Given the description of an element on the screen output the (x, y) to click on. 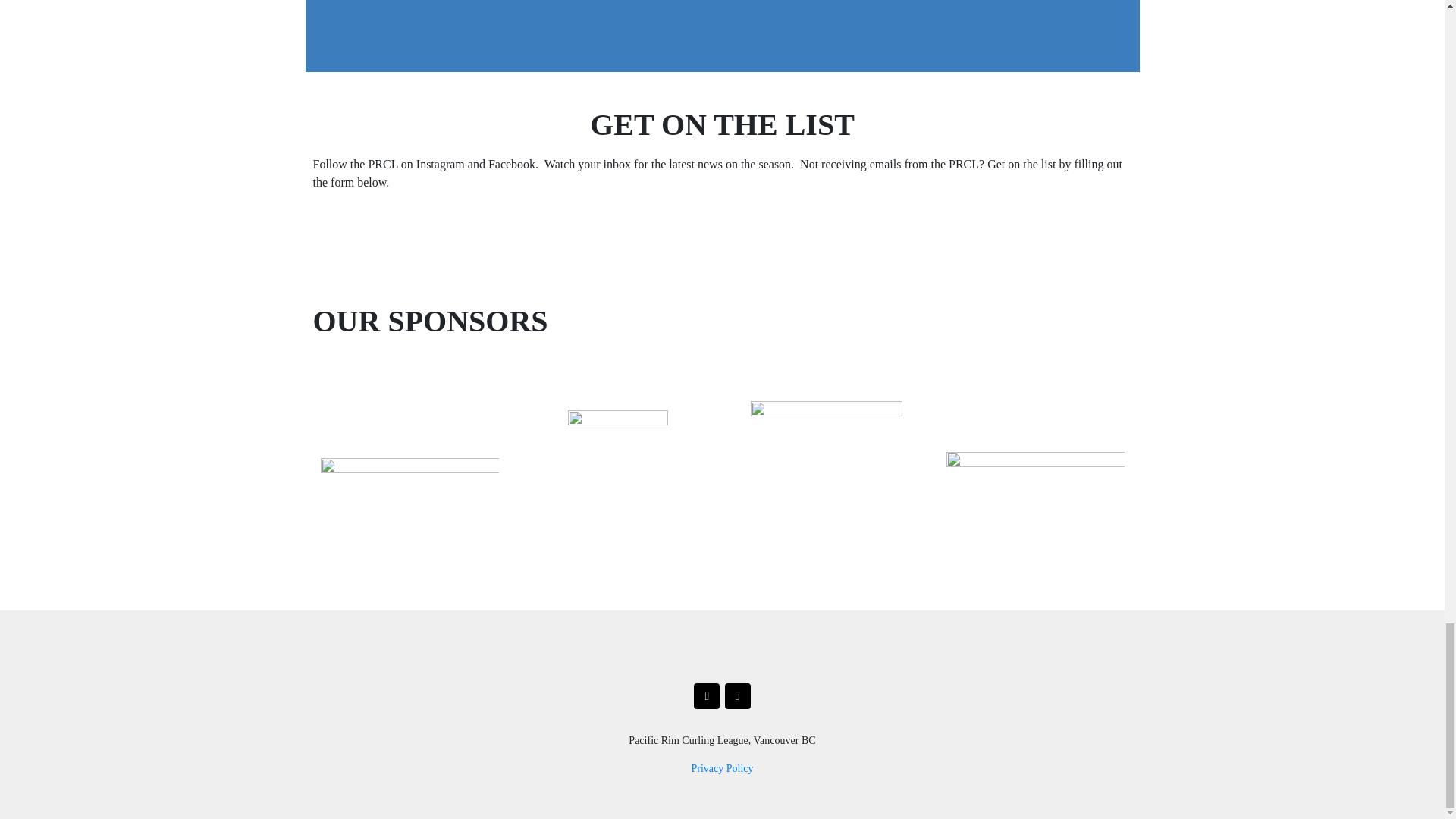
Privacy Policy (721, 767)
